Given the description of an element on the screen output the (x, y) to click on. 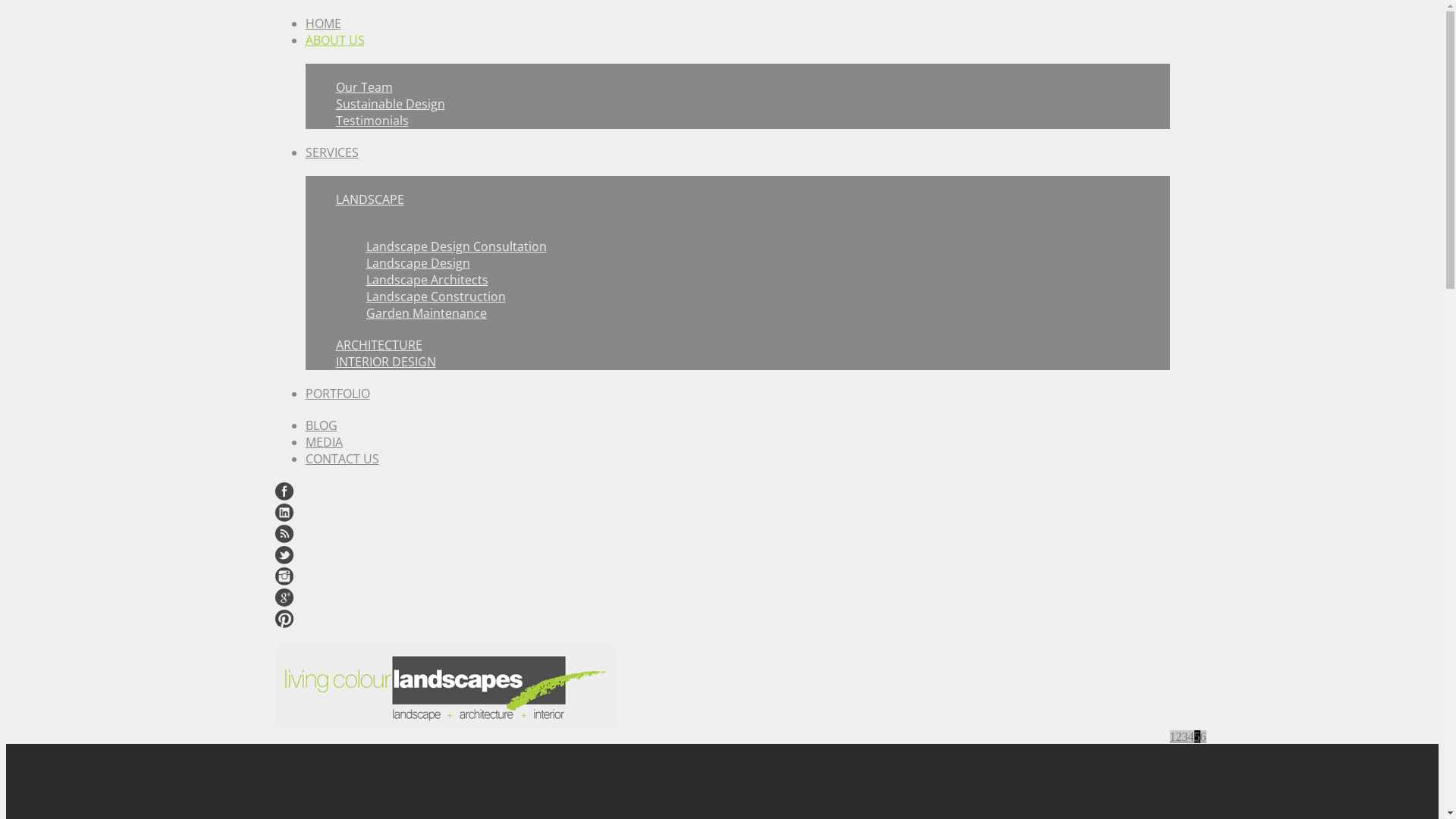
Garden Maintenance Element type: text (425, 312)
5 Element type: text (1196, 736)
INTERIOR DESIGN Element type: text (385, 361)
LANDSCAPE Element type: text (369, 199)
Landscape Design Consultation Element type: text (455, 246)
Landscape Design Element type: text (417, 262)
ARCHITECTURE Element type: text (378, 344)
MEDIA Element type: text (323, 441)
CONTACT US Element type: text (341, 458)
Our Team Element type: text (363, 86)
2 Element type: text (1178, 736)
SERVICES Element type: text (330, 152)
Sustainable Design Element type: text (389, 103)
3 Element type: text (1184, 736)
Landscape Architects Element type: text (426, 279)
BLOG Element type: text (320, 425)
HOME Element type: text (322, 23)
ABOUT US Element type: text (334, 39)
Testimonials Element type: text (371, 120)
6 Element type: text (1202, 736)
4 Element type: text (1190, 736)
1 Element type: text (1172, 736)
PORTFOLIO Element type: text (336, 393)
Landscape Construction Element type: text (435, 296)
